Given the description of an element on the screen output the (x, y) to click on. 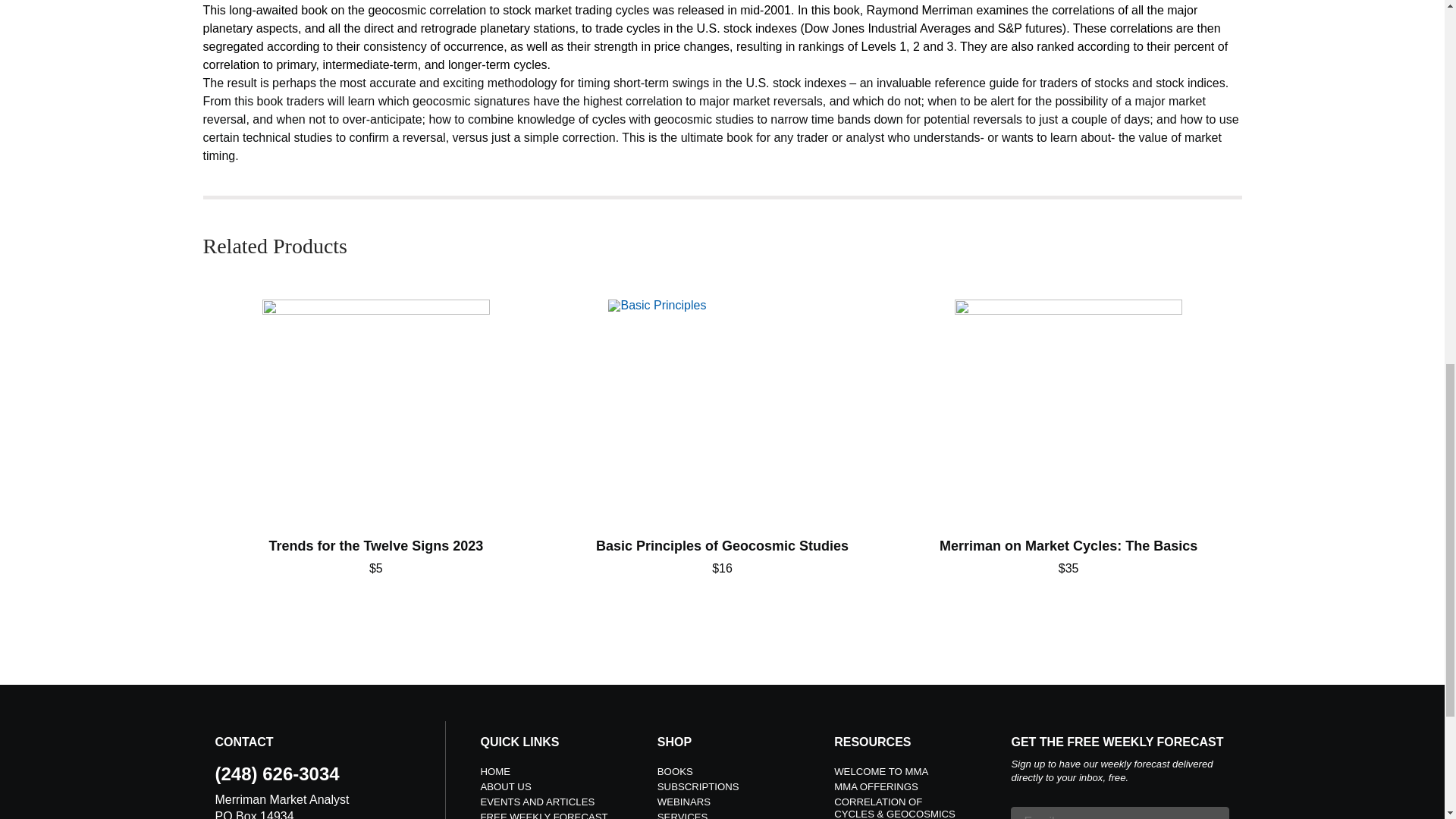
EVENTS AND ARTICLES (537, 801)
Merriman pone number (277, 773)
Merriman on Market Cycles: The Basics (1068, 438)
HOME (495, 771)
ABOUT US (505, 786)
Basic Principles of Geocosmic Studies (721, 438)
Trends for the Twelve Signs 2023 (375, 438)
